Given the description of an element on the screen output the (x, y) to click on. 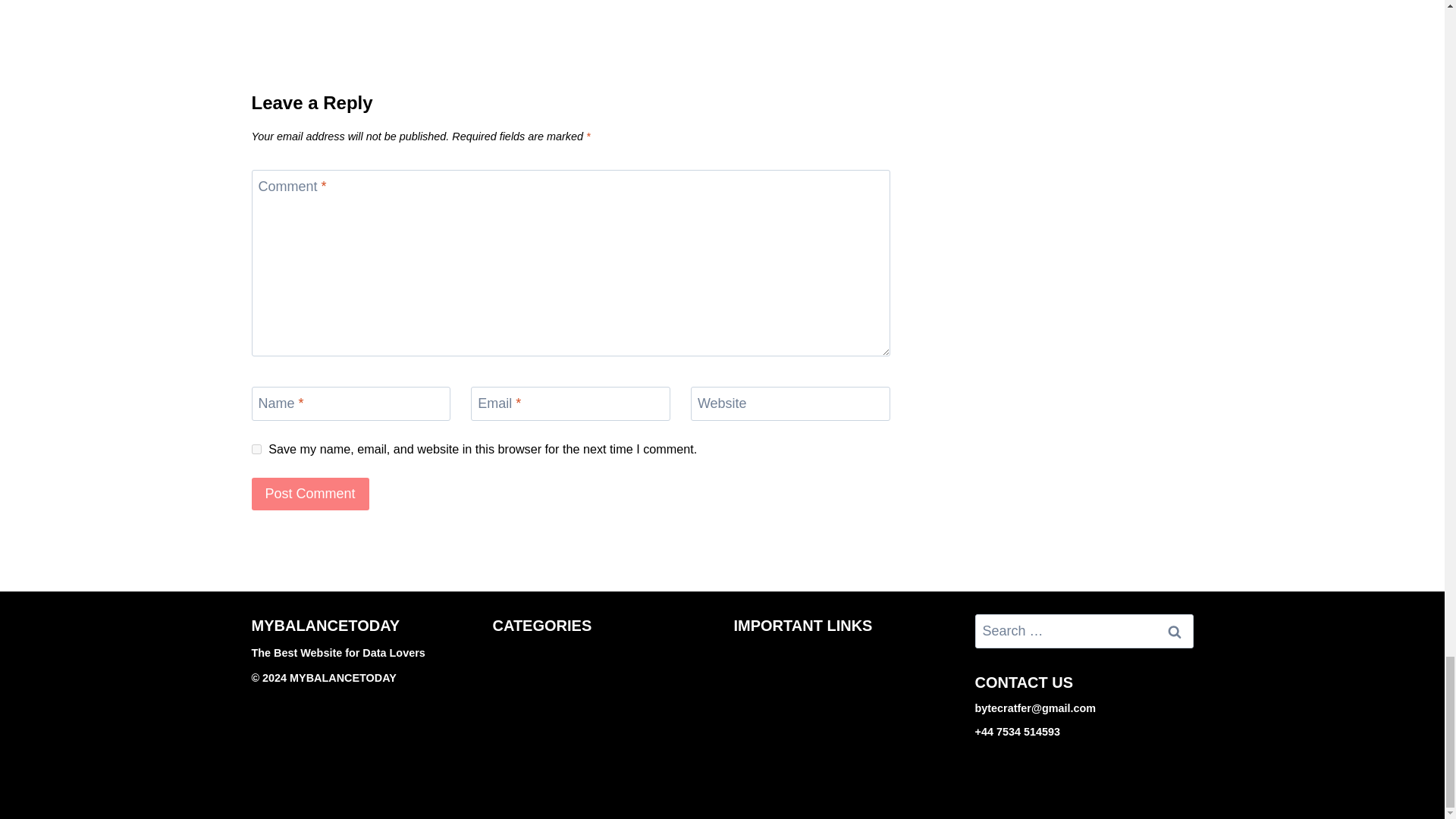
Search (1174, 631)
Search (1174, 631)
yes (256, 449)
Post Comment (310, 493)
